Given the description of an element on the screen output the (x, y) to click on. 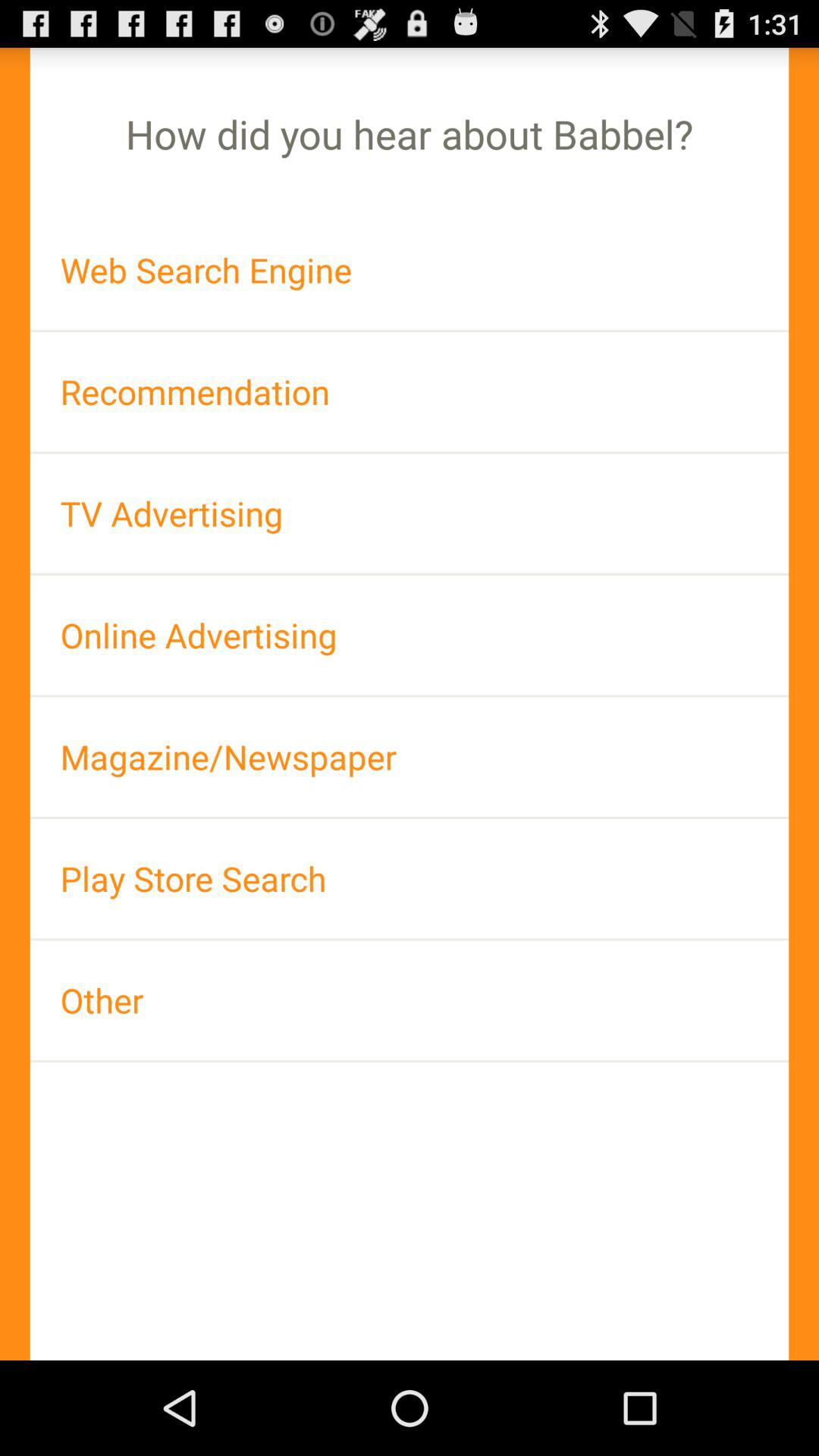
turn on the recommendation (409, 391)
